Given the description of an element on the screen output the (x, y) to click on. 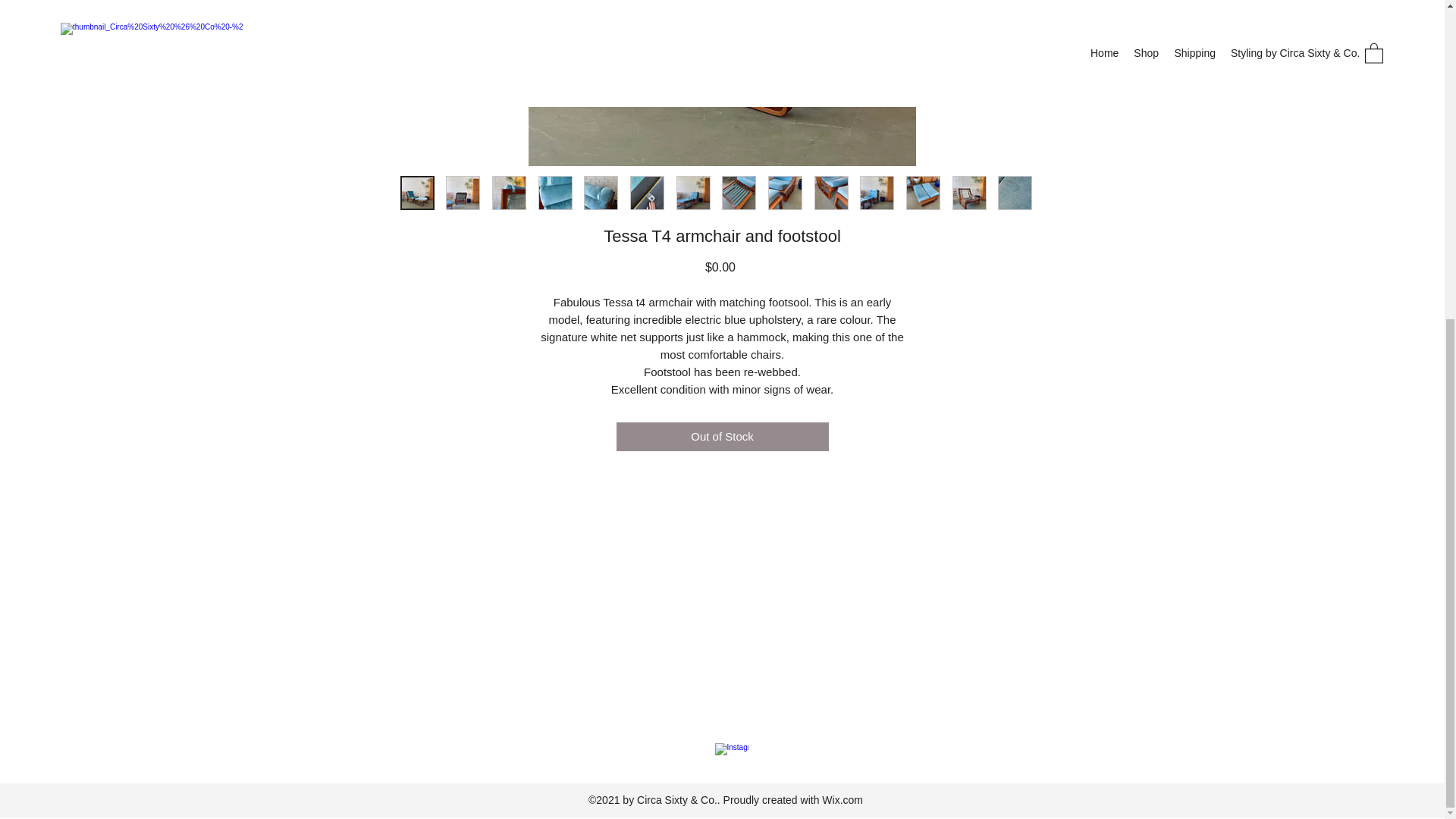
Out of Stock (721, 437)
